Given the description of an element on the screen output the (x, y) to click on. 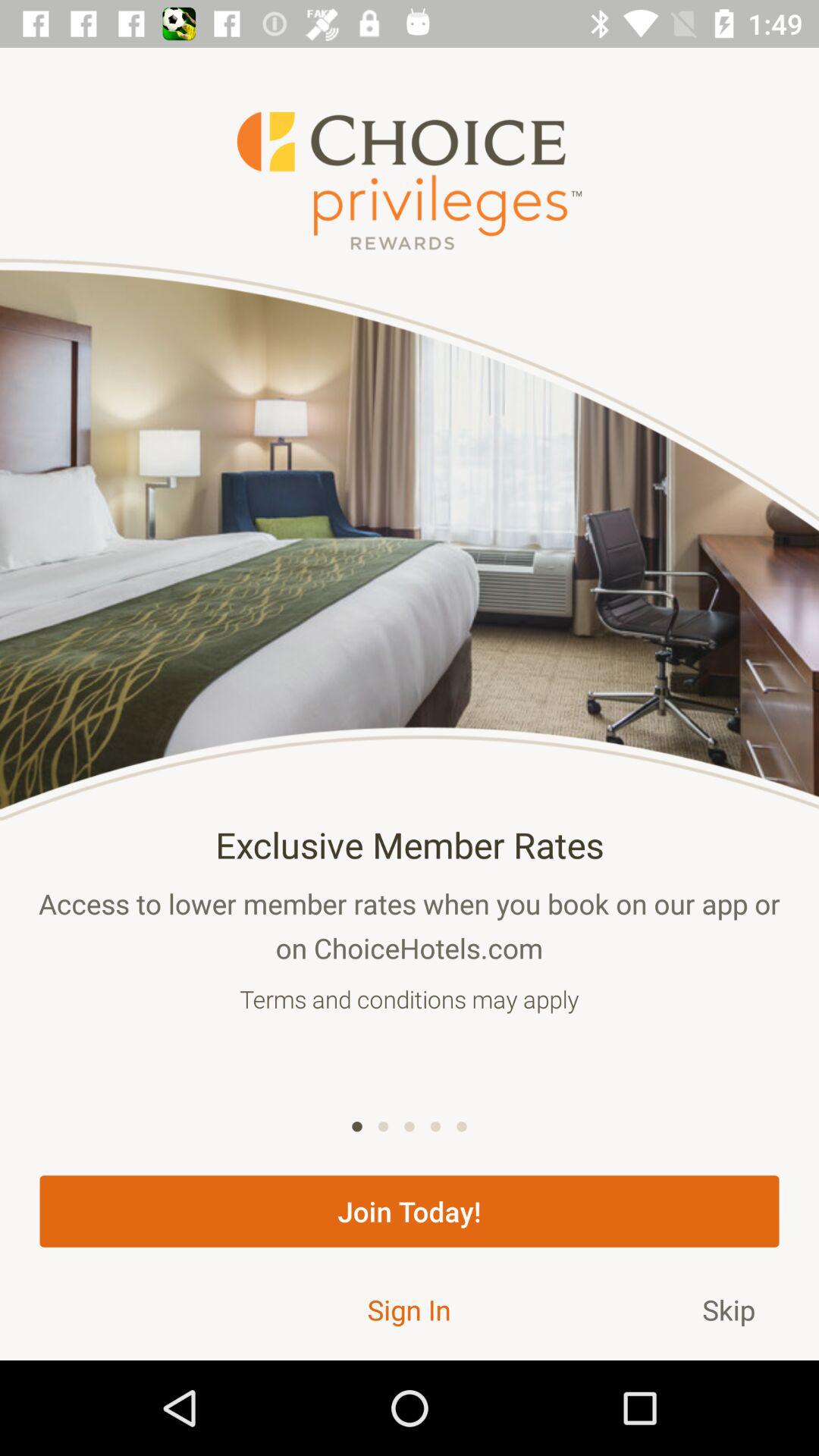
press icon next to sign in item (728, 1309)
